Given the description of an element on the screen output the (x, y) to click on. 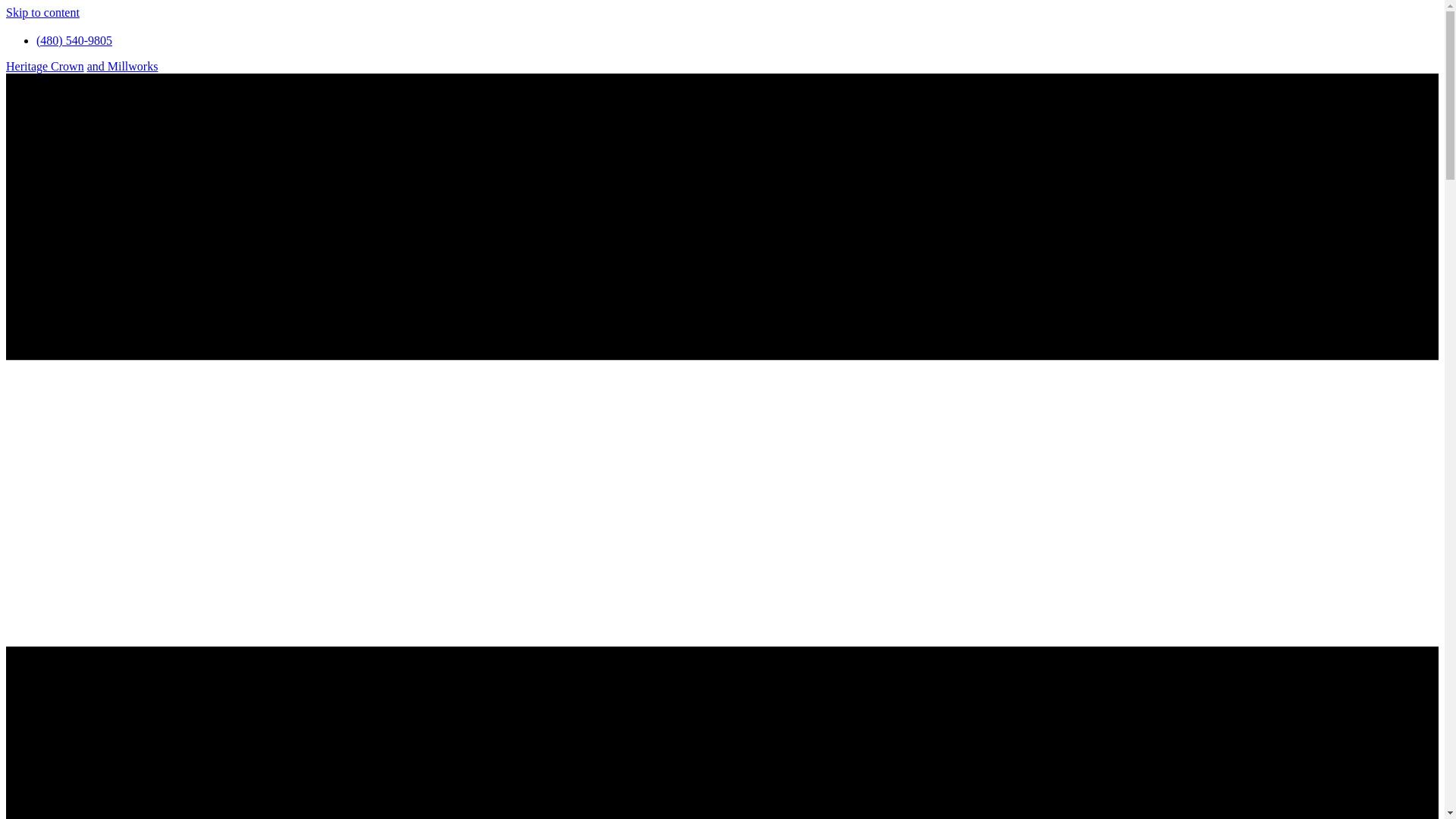
Heritage Crown (44, 65)
and Millworks (122, 65)
Skip to content (42, 11)
